Given the description of an element on the screen output the (x, y) to click on. 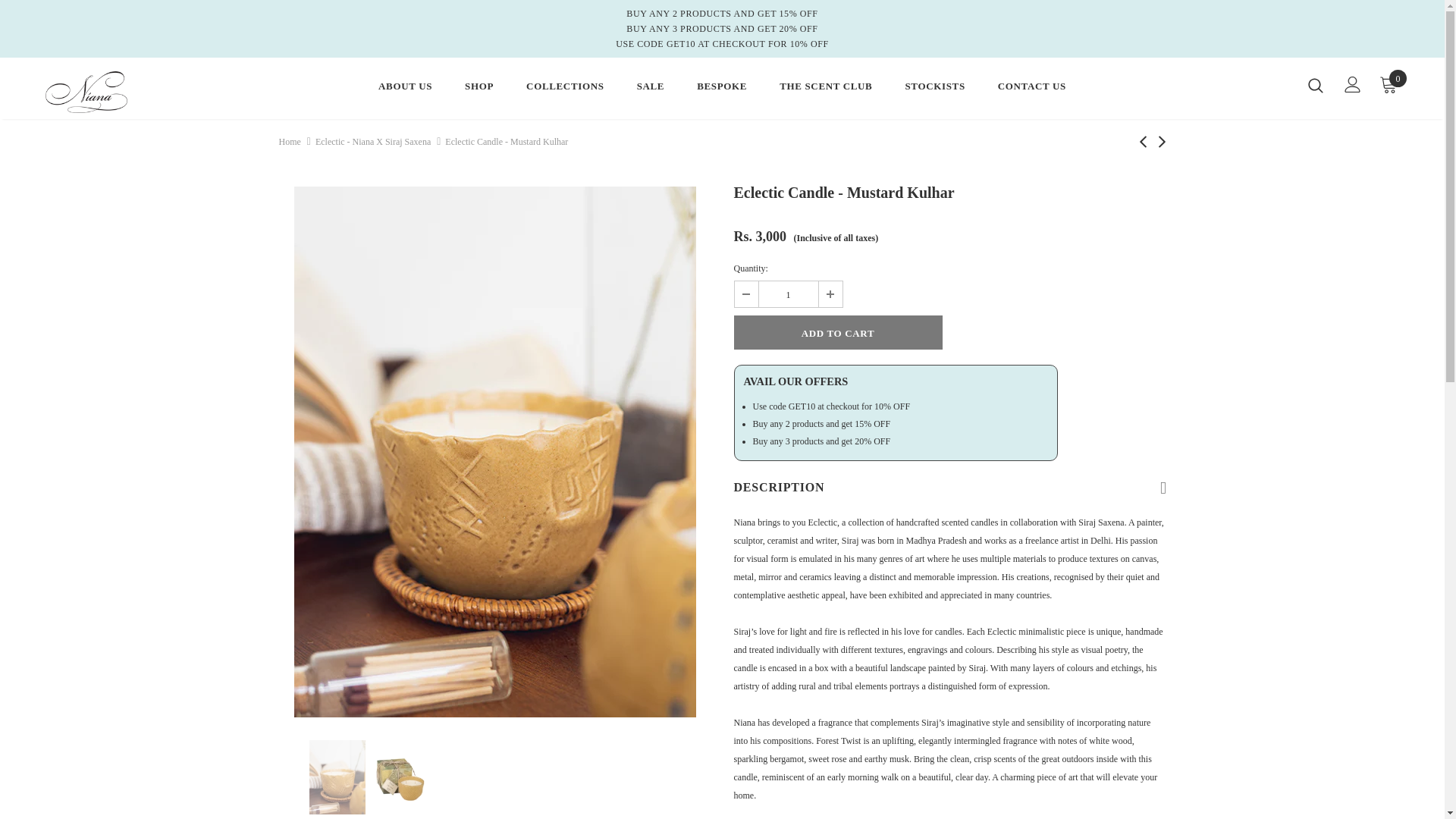
Logo (134, 92)
ABOUT US (405, 88)
BESPOKE (721, 88)
Cart Icon (1387, 84)
CONTACT US (1031, 88)
STOCKISTS (933, 88)
Add to Cart (837, 332)
1 (787, 294)
COLLECTIONS (564, 88)
THE SCENT CLUB (825, 88)
